Given the description of an element on the screen output the (x, y) to click on. 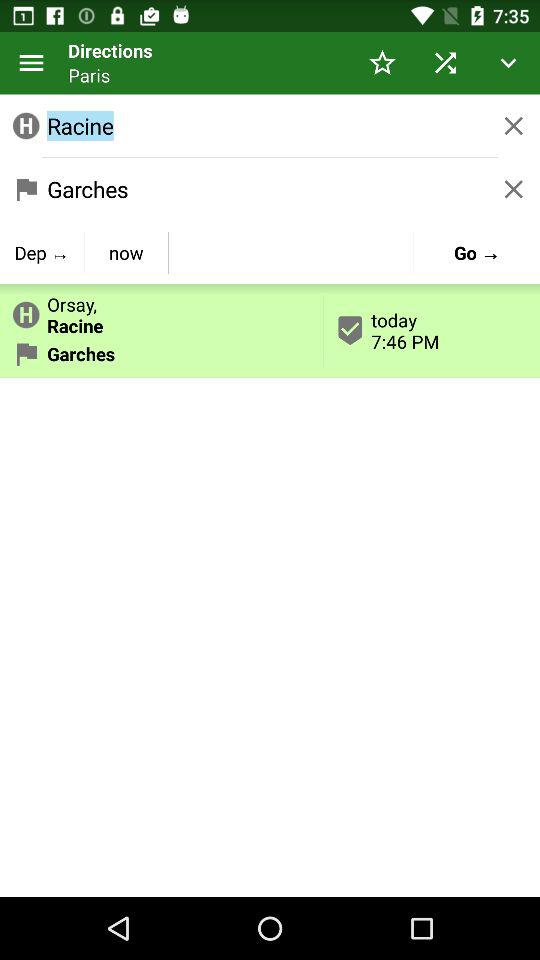
open icon to the left of today 7 46 (161, 311)
